Given the description of an element on the screen output the (x, y) to click on. 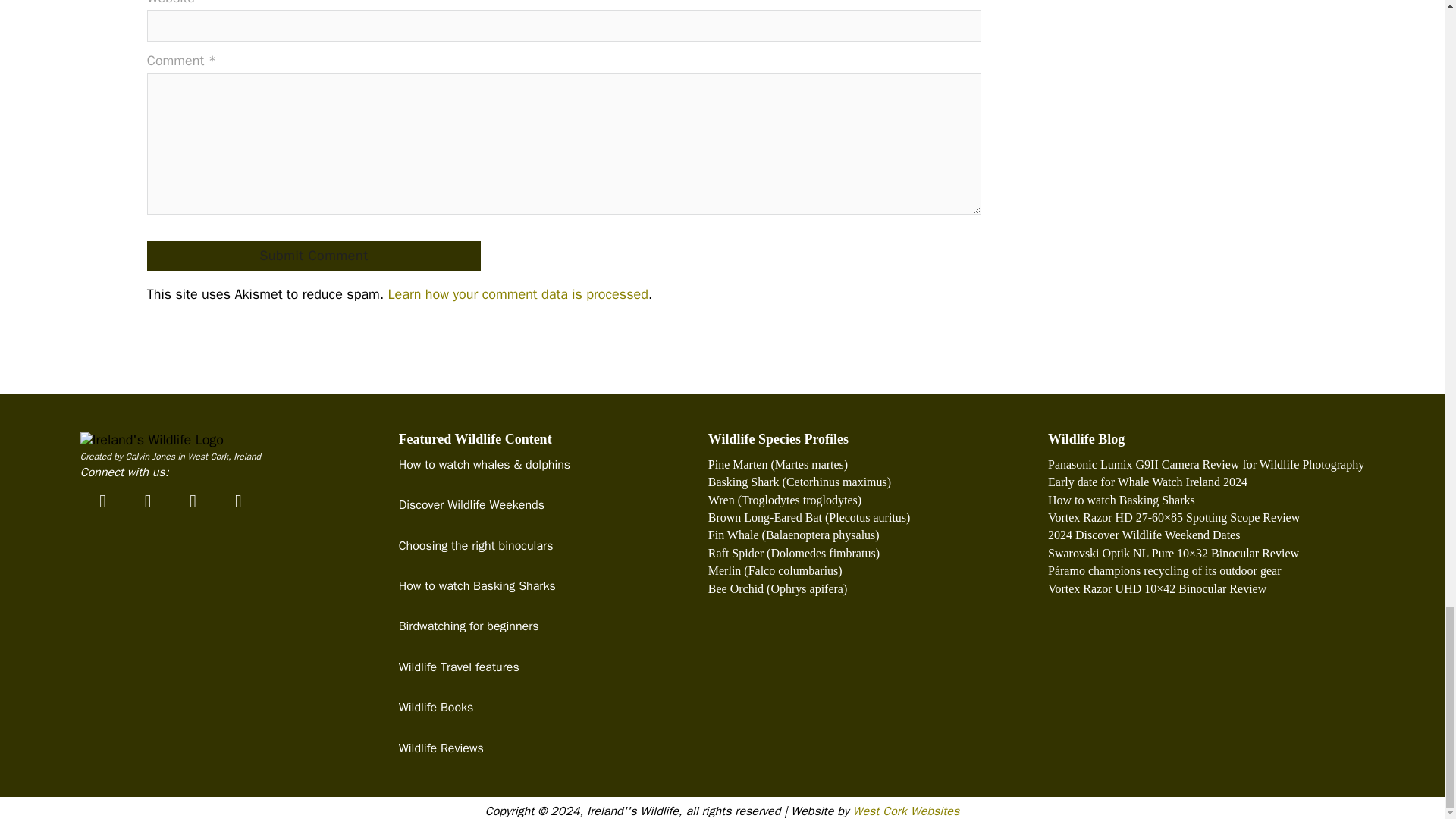
Submit Comment (313, 255)
